Given the description of an element on the screen output the (x, y) to click on. 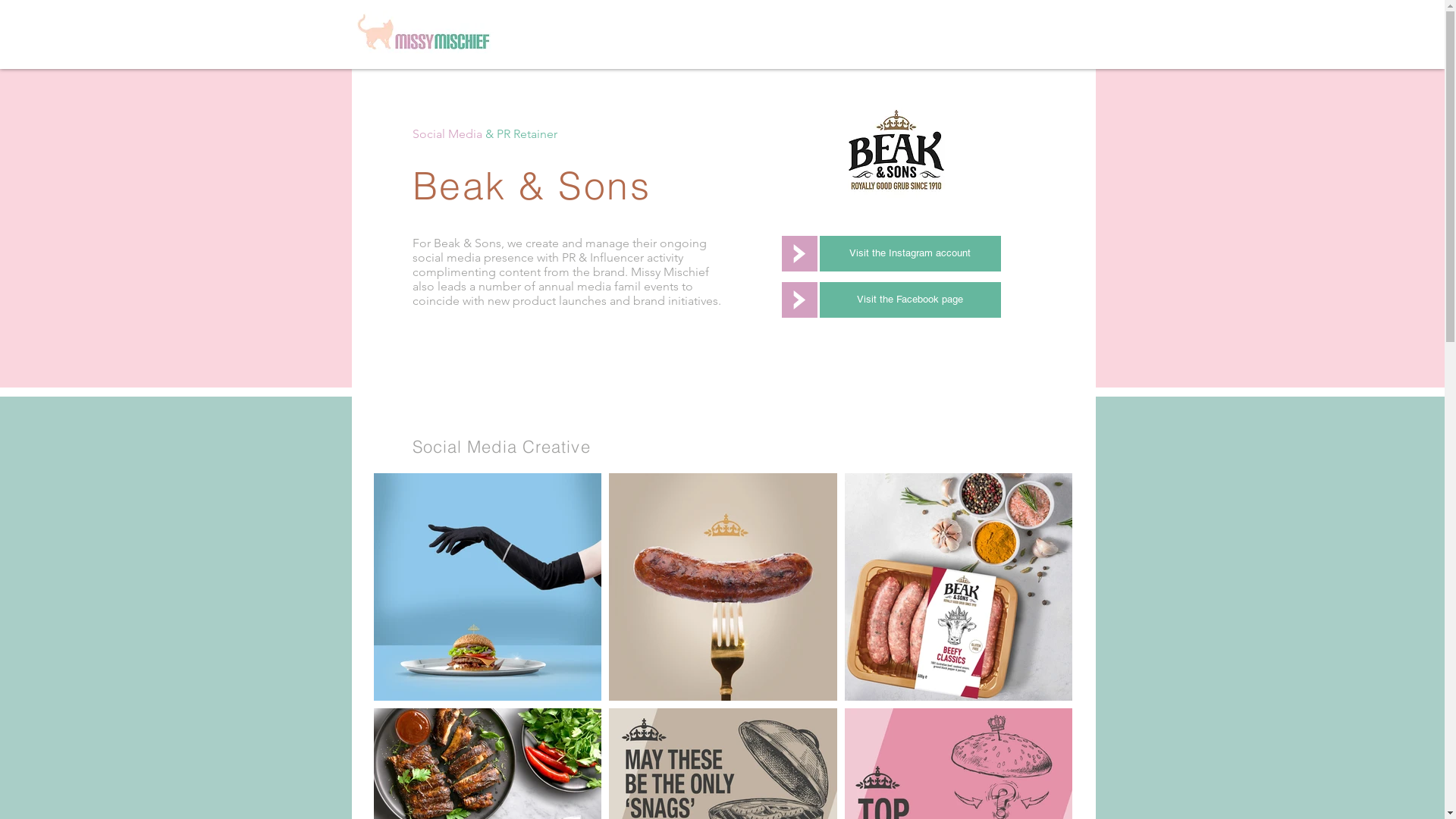
Visit the Instagram account Element type: text (909, 253)
Visit the Facebook page Element type: text (909, 299)
